Given the description of an element on the screen output the (x, y) to click on. 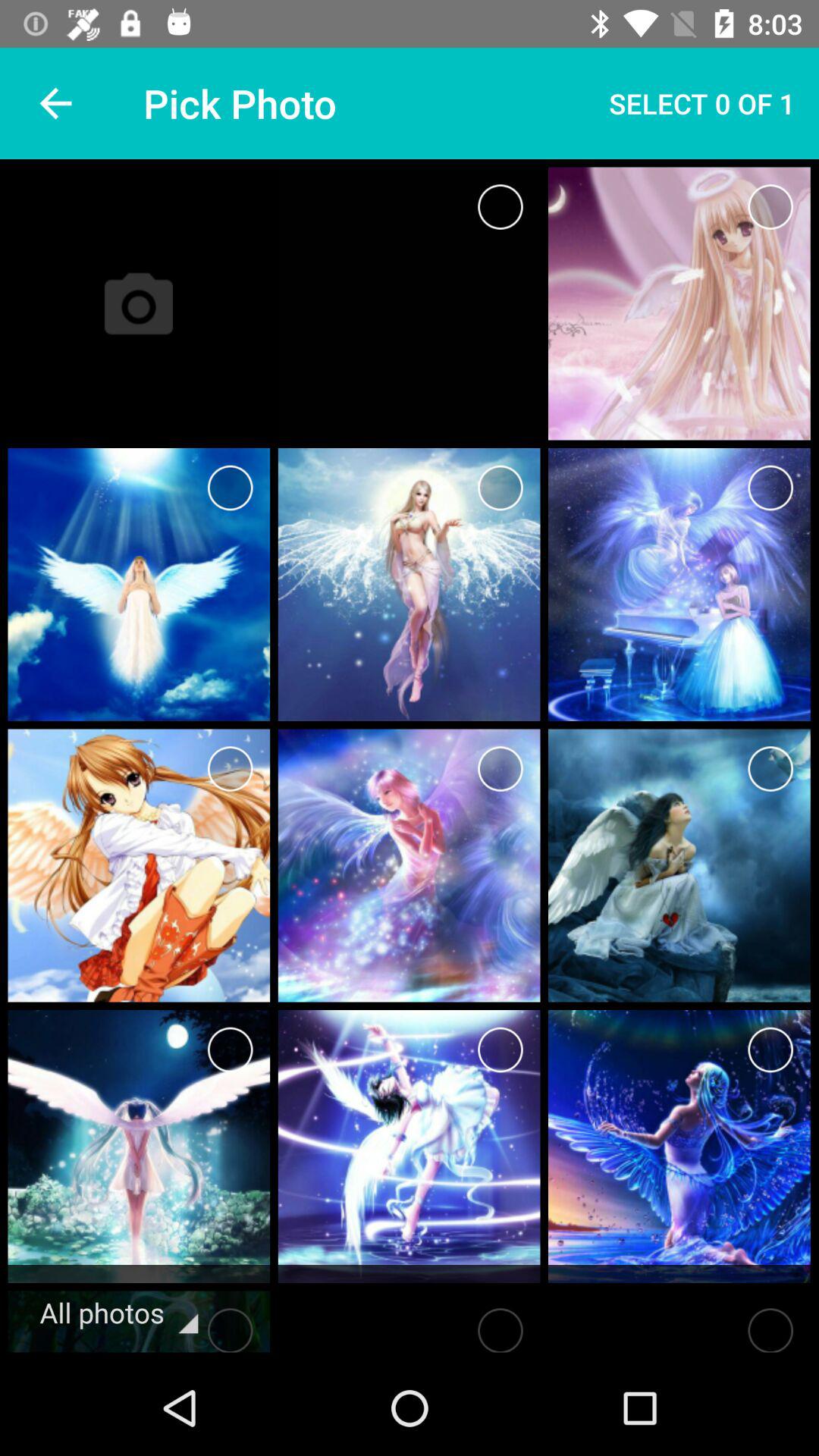
choose this photo (230, 768)
